Given the description of an element on the screen output the (x, y) to click on. 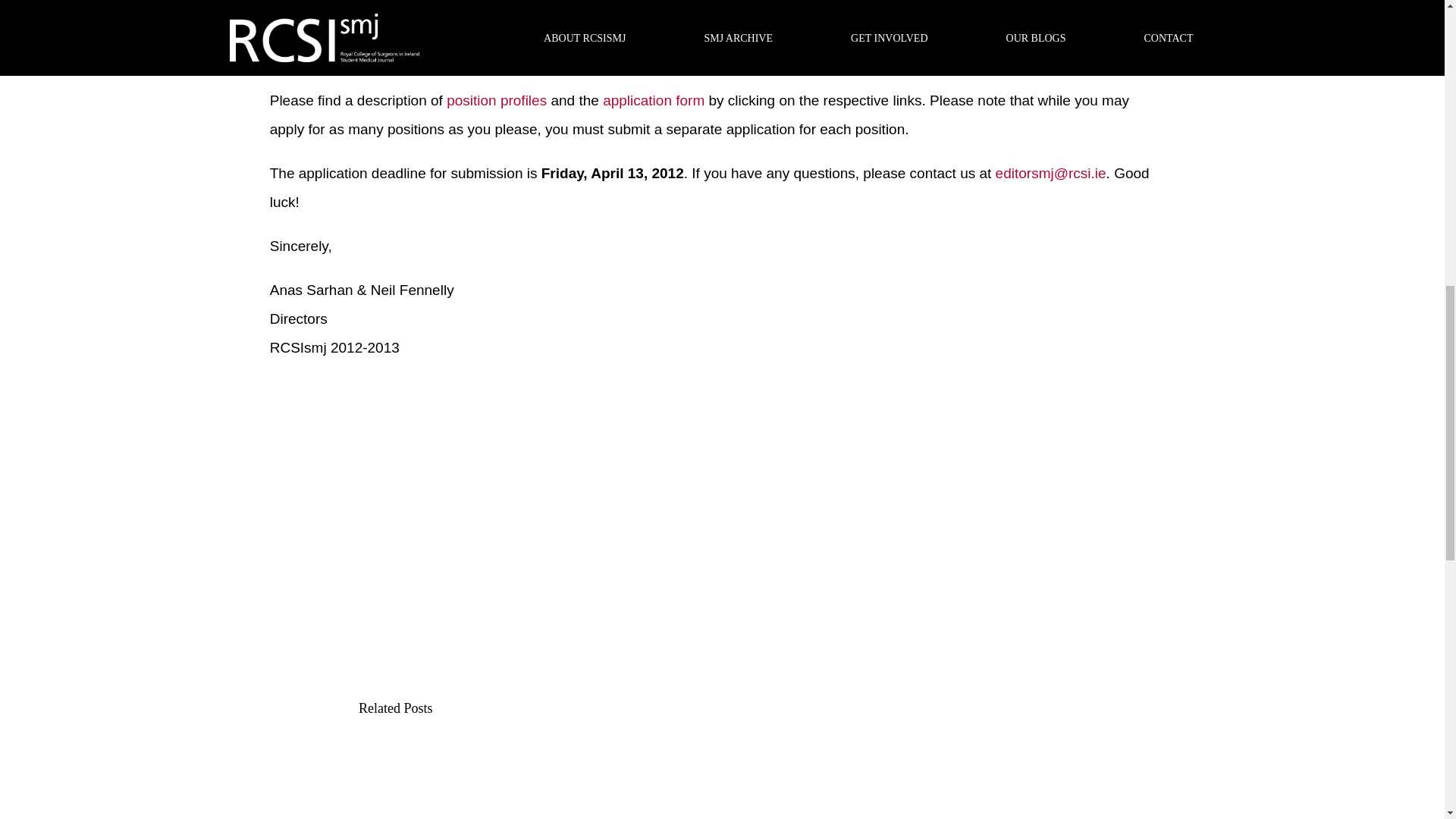
position profiles (496, 100)
application form (653, 100)
Email this (482, 450)
Tweet this (394, 450)
Share this (306, 450)
